Given the description of an element on the screen output the (x, y) to click on. 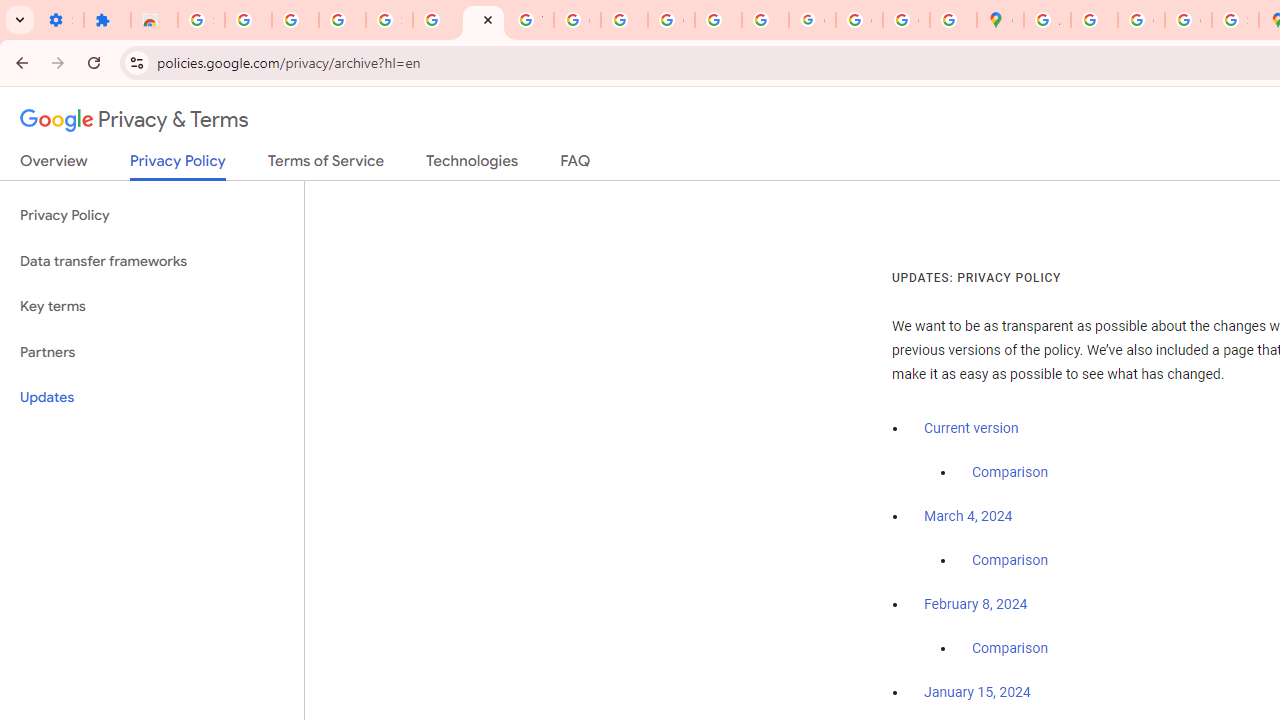
Reviews: Helix Fruit Jump Arcade Game (153, 20)
Settings - On startup (60, 20)
February 8, 2024 (975, 605)
